Given the description of an element on the screen output the (x, y) to click on. 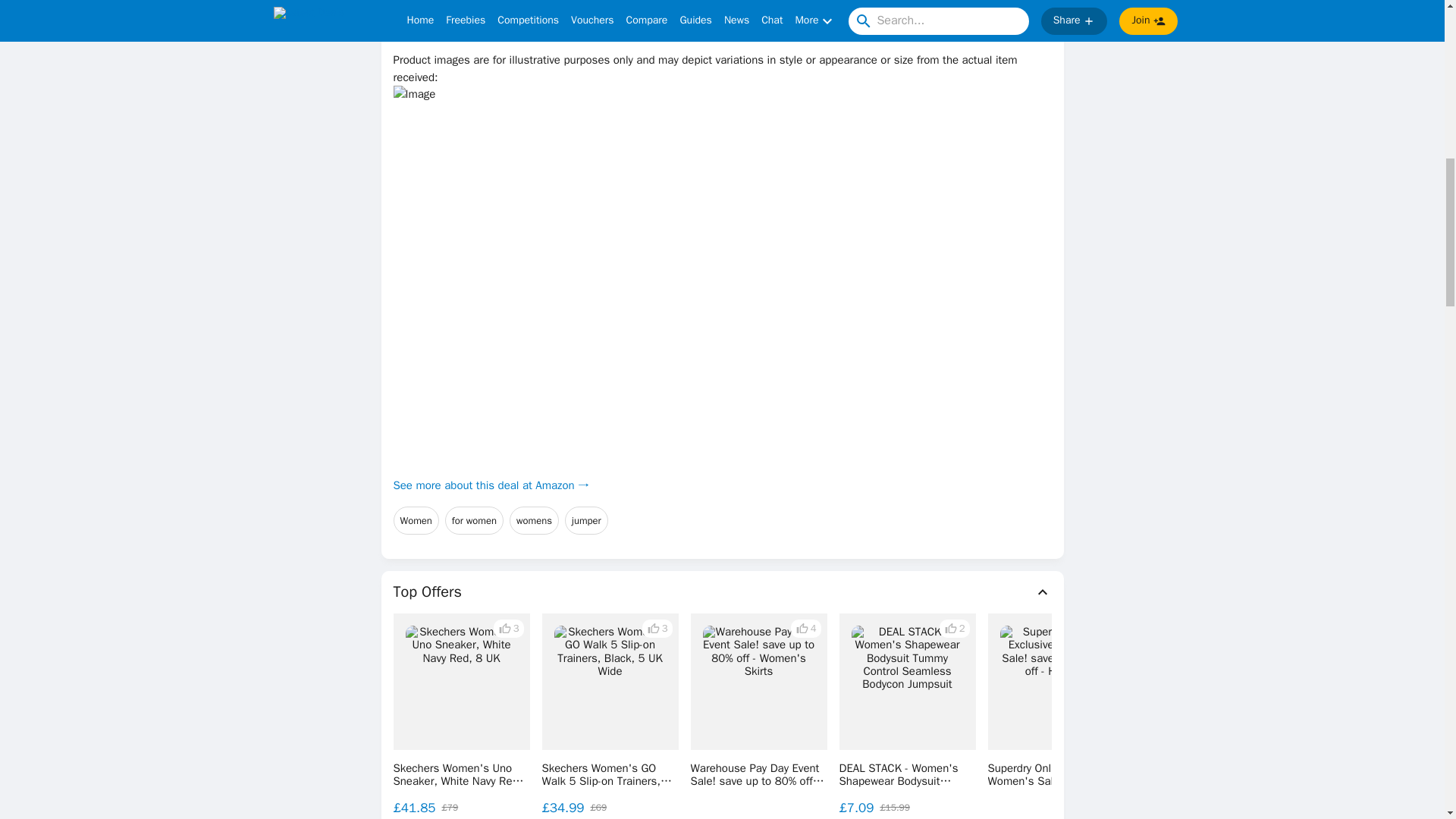
womens (534, 520)
See more offers (1329, 714)
for women (474, 520)
Top Offers (722, 592)
Women (415, 520)
jumper (586, 520)
